Given the description of an element on the screen output the (x, y) to click on. 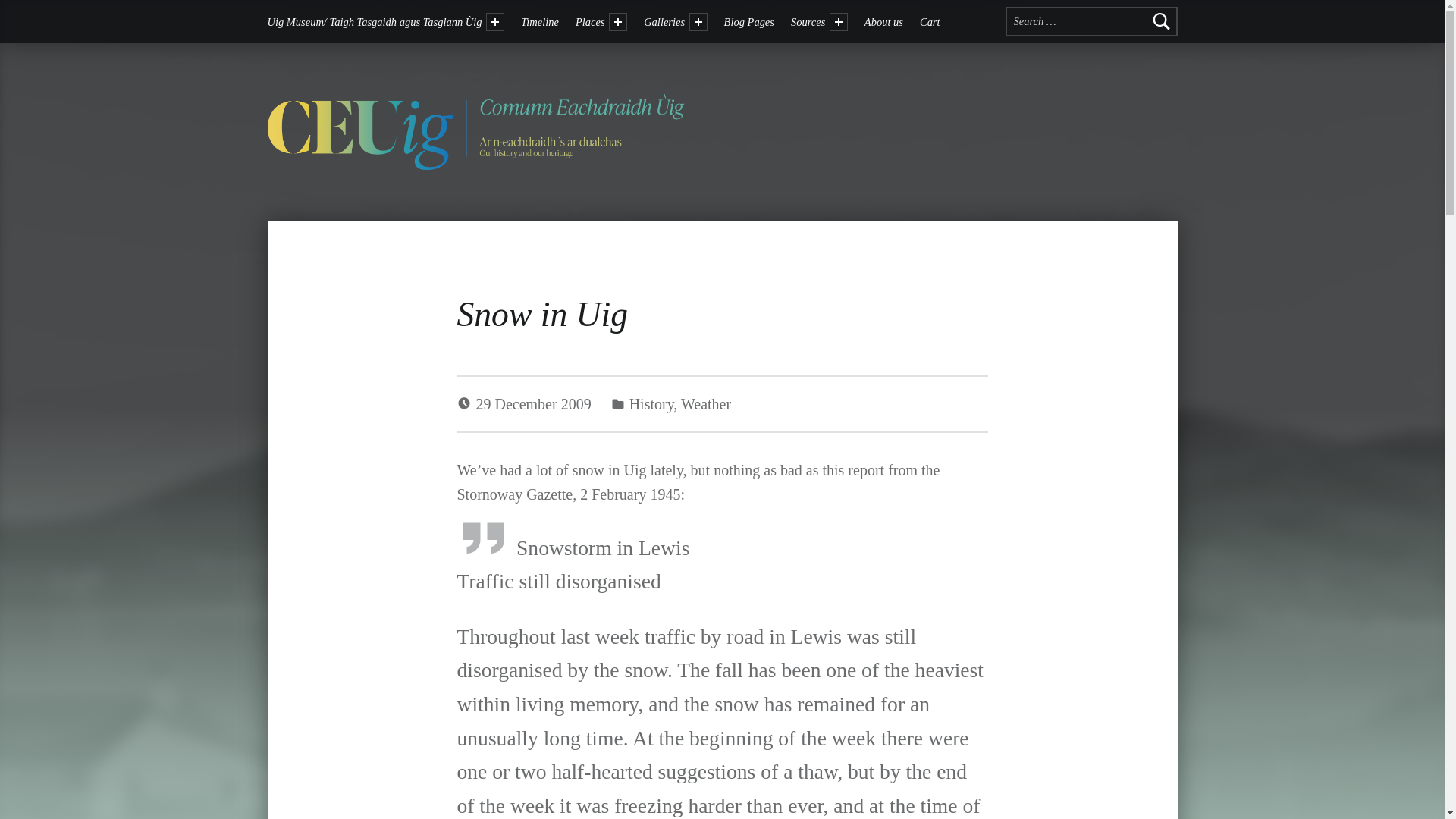
Timeline (540, 21)
Search (1162, 21)
Places (591, 21)
Search (1162, 21)
Search (1162, 21)
Posted on: 29 December 2009 (535, 403)
